Given the description of an element on the screen output the (x, y) to click on. 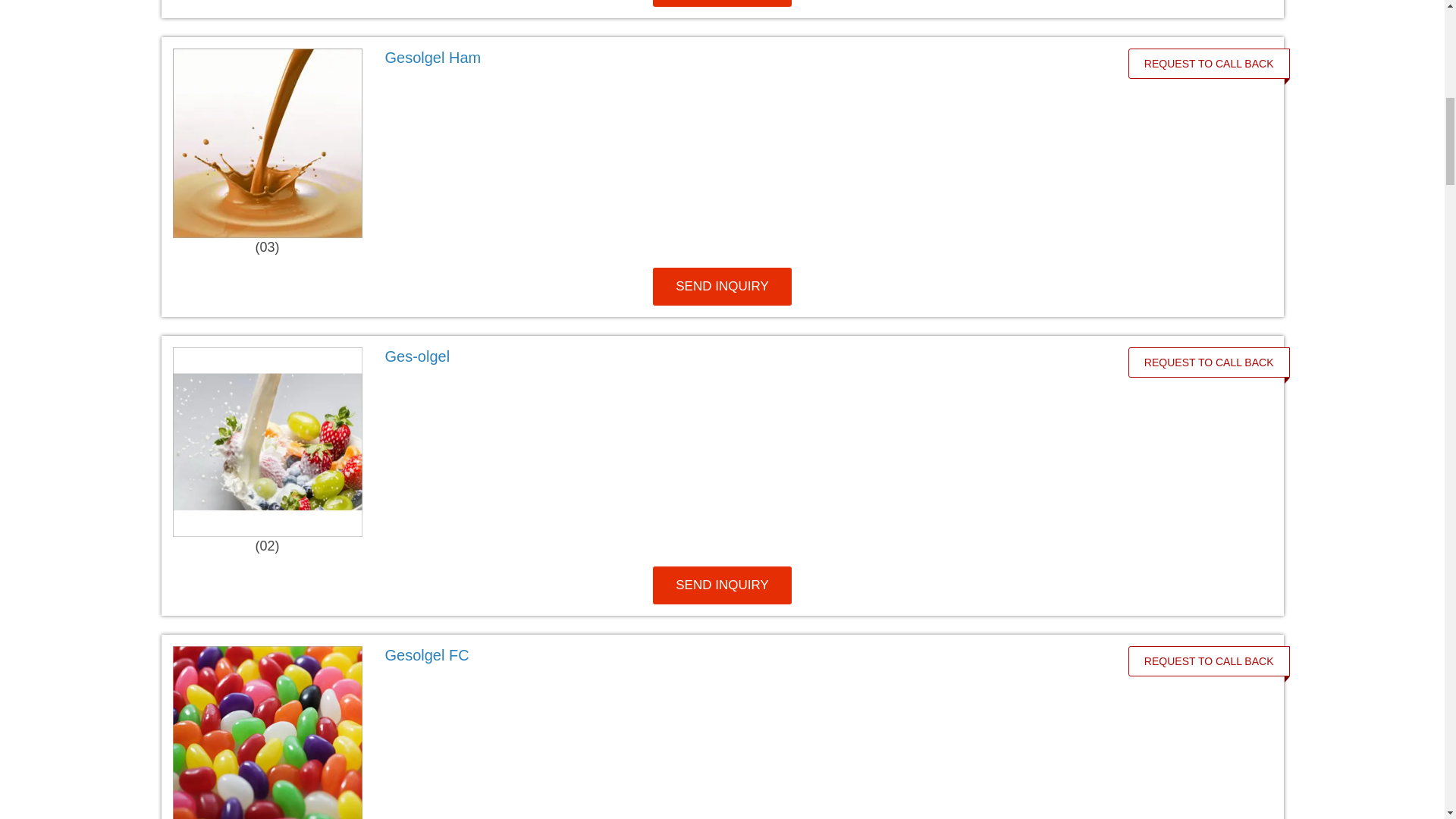
Ges-olgel (739, 356)
Gesolgel FC (739, 655)
Gesolgel Ham (739, 57)
